Given the description of an element on the screen output the (x, y) to click on. 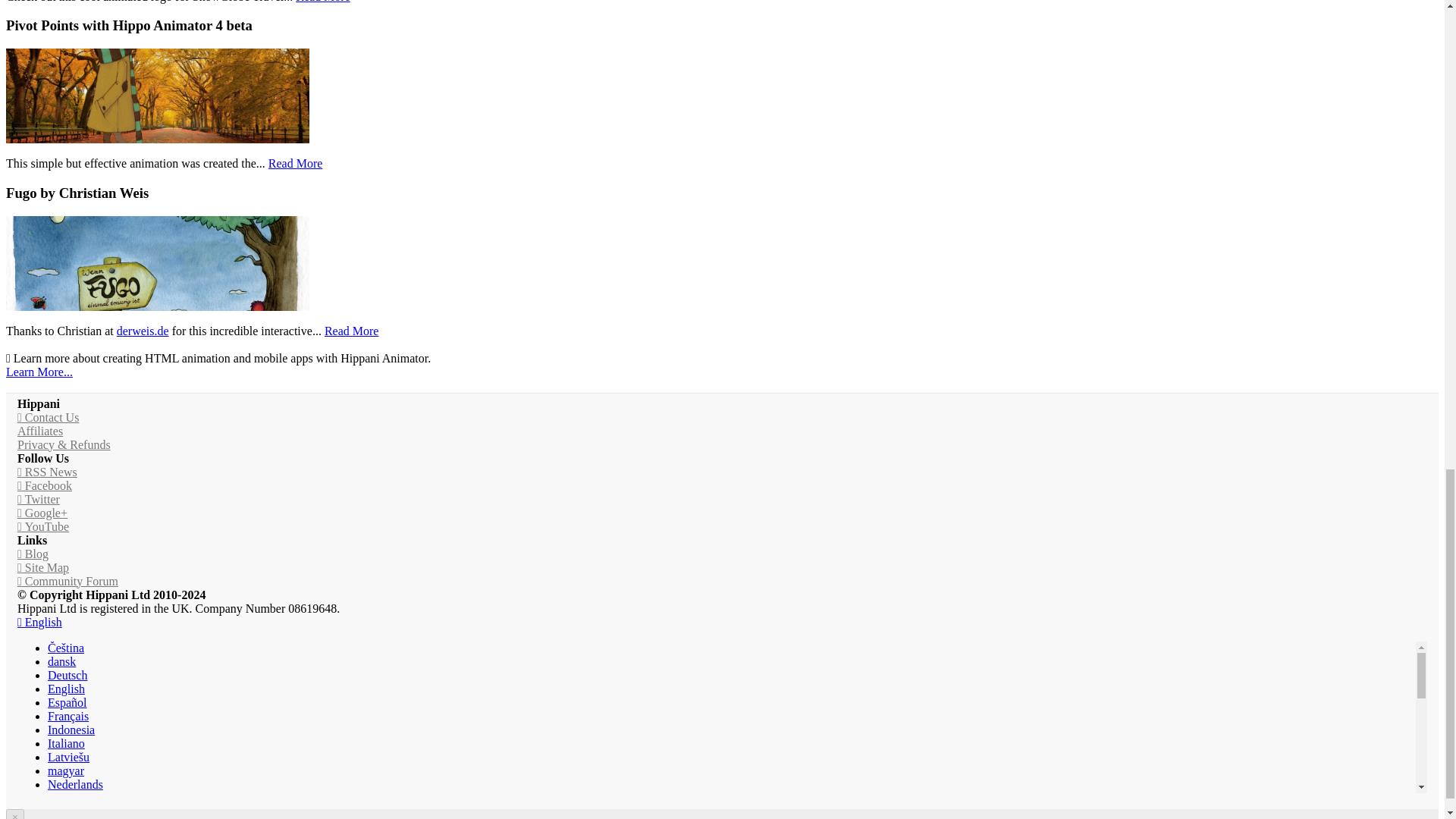
dansk (61, 661)
Deutsch (67, 675)
Read More (295, 163)
Learn More... (38, 371)
English (66, 688)
Affiliates (39, 431)
Read More (322, 1)
Read More (351, 330)
derweis.de (142, 330)
